Given the description of an element on the screen output the (x, y) to click on. 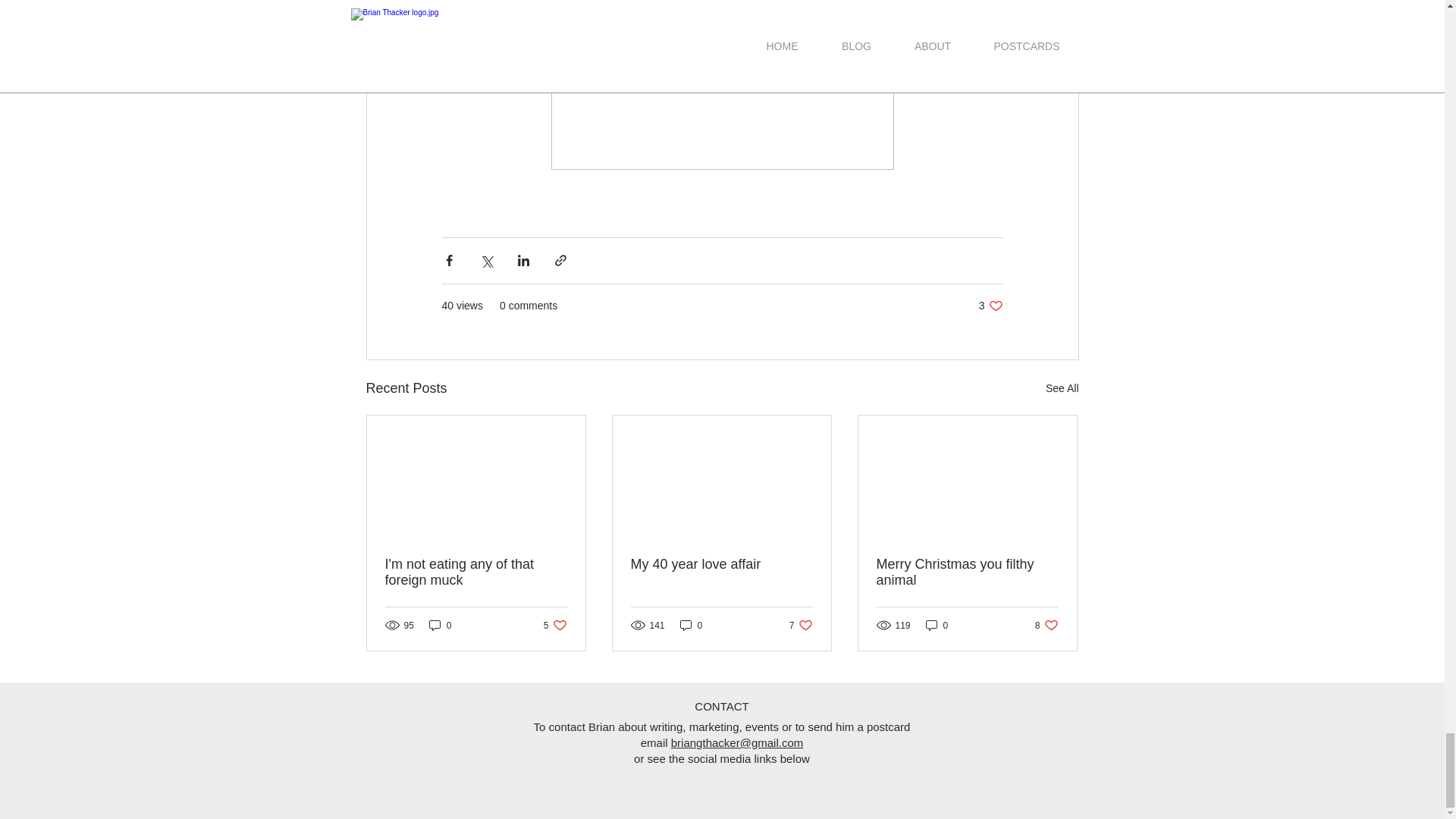
Merry Christmas you filthy animal (967, 572)
0 (800, 625)
I'm not eating any of that foreign muck (691, 625)
0 (476, 572)
My 40 year love affair (1046, 625)
See All (990, 305)
0 (440, 625)
